Given the description of an element on the screen output the (x, y) to click on. 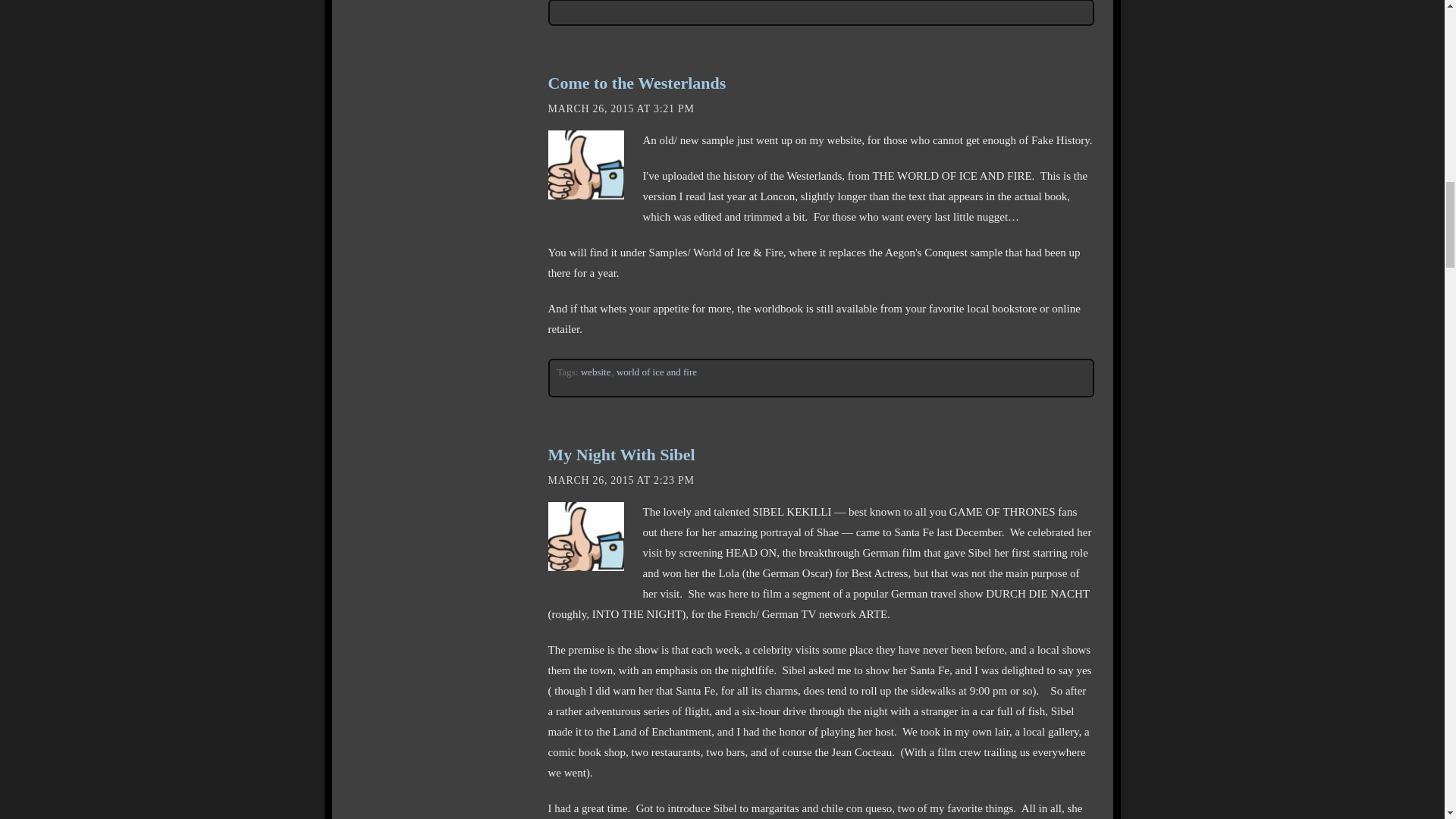
website (595, 371)
Come to the Westerlands (636, 82)
world of ice and fire (656, 371)
My Night With Sibel (620, 454)
